Given the description of an element on the screen output the (x, y) to click on. 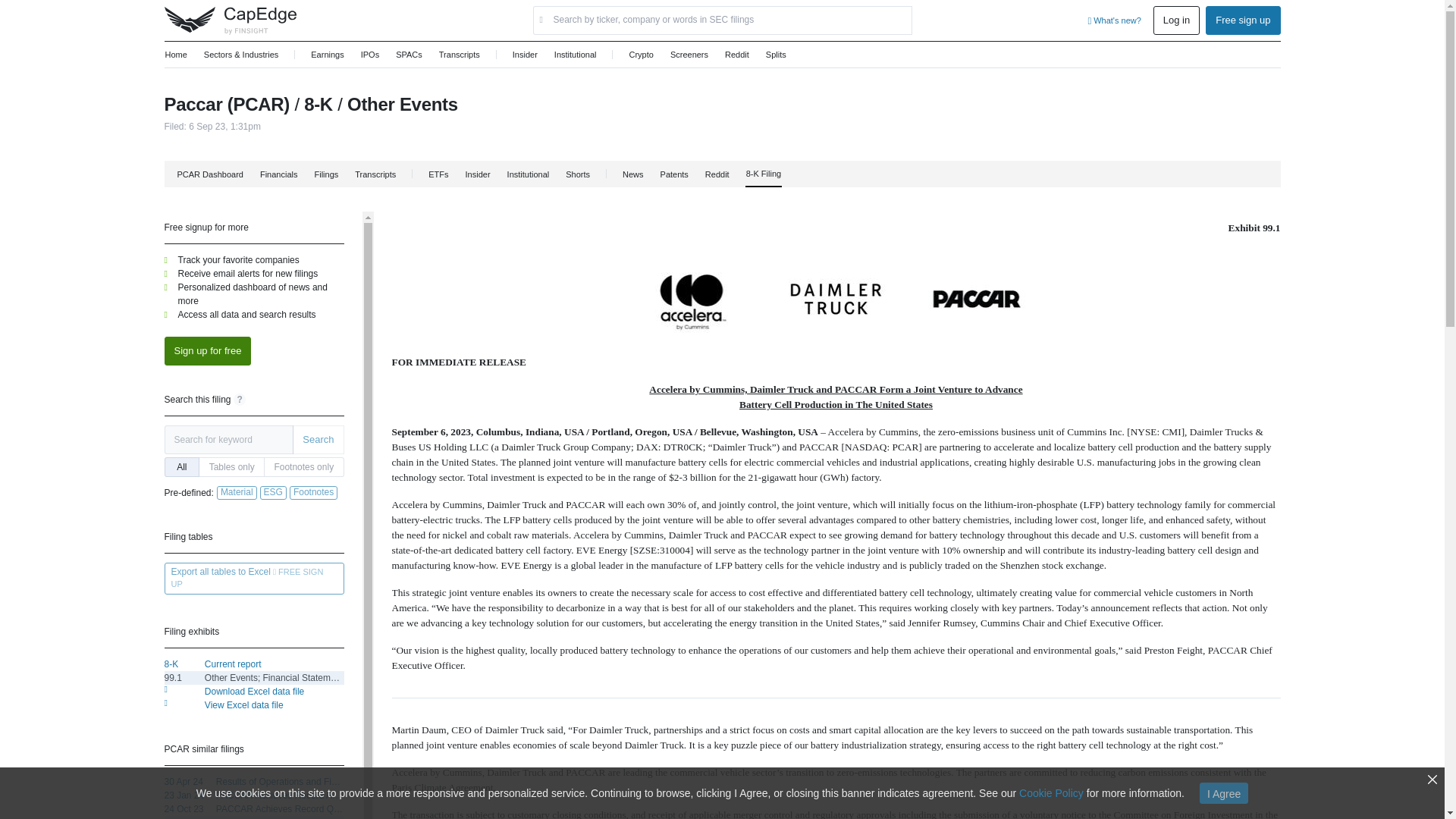
Financials (278, 173)
Shorts (577, 173)
What's new? (1113, 20)
IPOs (369, 54)
Crypto (640, 54)
Reddit (717, 173)
Patents (673, 173)
Home (175, 54)
? (239, 399)
Splits (776, 54)
Free sign up (1242, 20)
ETFs (438, 173)
News (633, 173)
Log in (1176, 20)
Sign up for free (206, 350)
